Given the description of an element on the screen output the (x, y) to click on. 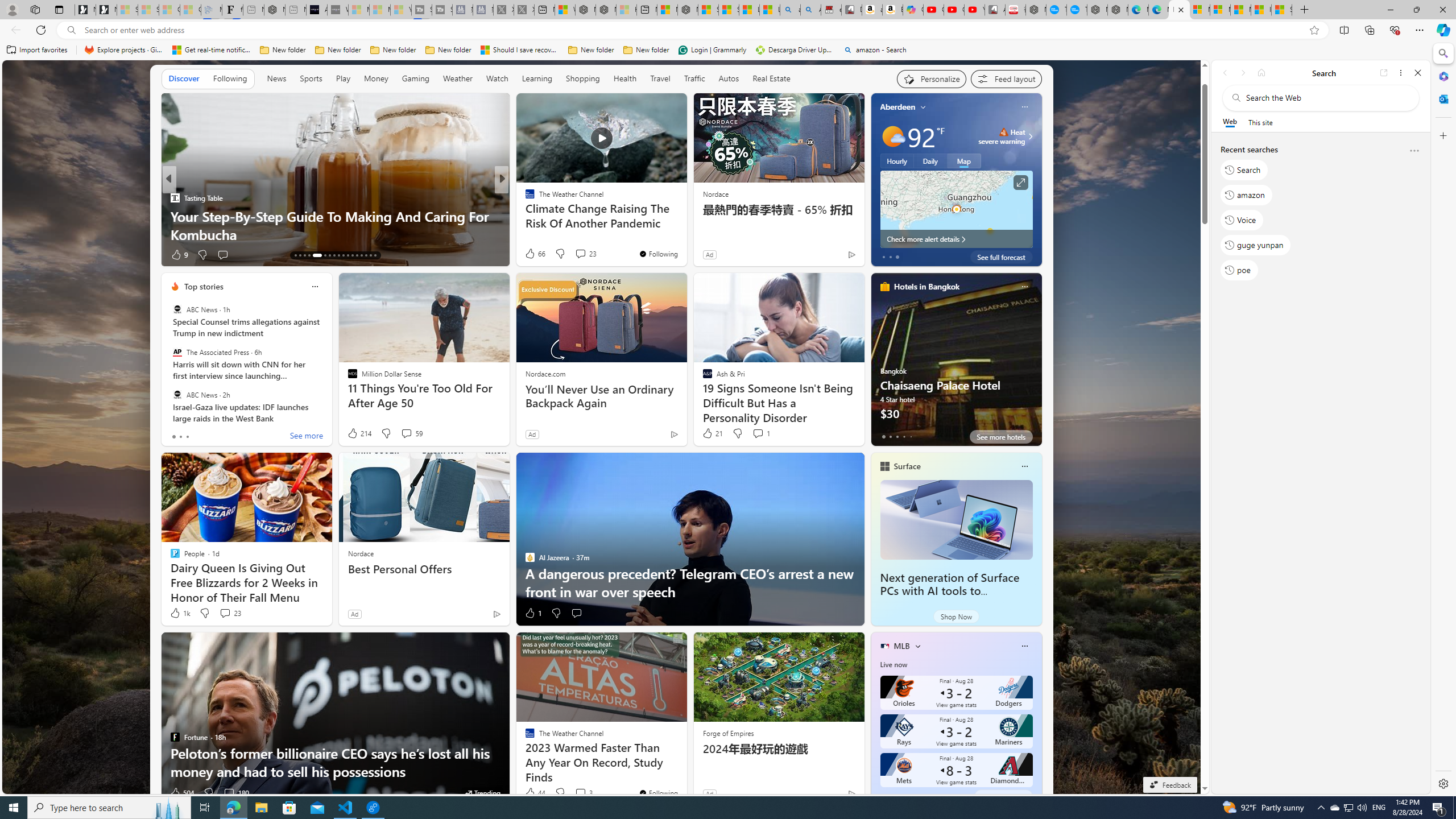
Voice (1241, 219)
Shopping (582, 78)
AutomationID: tab-16 (309, 255)
Search icon (70, 29)
Shopping (583, 79)
Class: weather-arrow-glyph (1029, 136)
The Independent (524, 197)
This site scope (1259, 121)
View comments 2 Comment (576, 254)
